Given the description of an element on the screen output the (x, y) to click on. 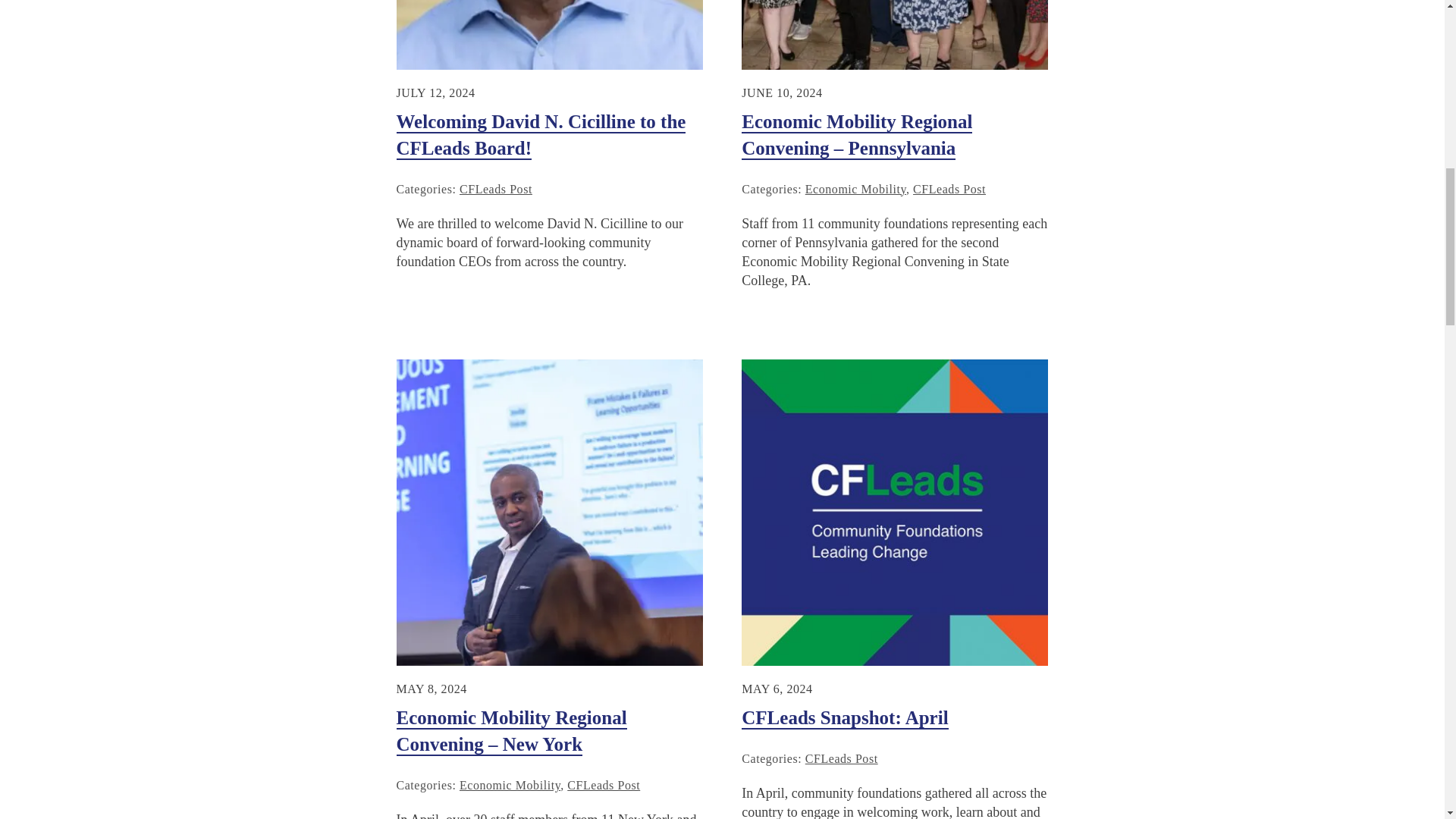
CFLeads Post (496, 188)
Welcoming David N. Cicilline to the CFLeads Board! (540, 135)
CFLeads Snapshot: April (844, 718)
CFLeads Post (603, 784)
Economic Mobility (510, 784)
CFLeads Post (948, 188)
CFLeads Snapshot: April (844, 718)
Economic Mobility (855, 188)
Welcoming David N. Cicilline to the CFLeads Board! (540, 135)
